Given the description of an element on the screen output the (x, y) to click on. 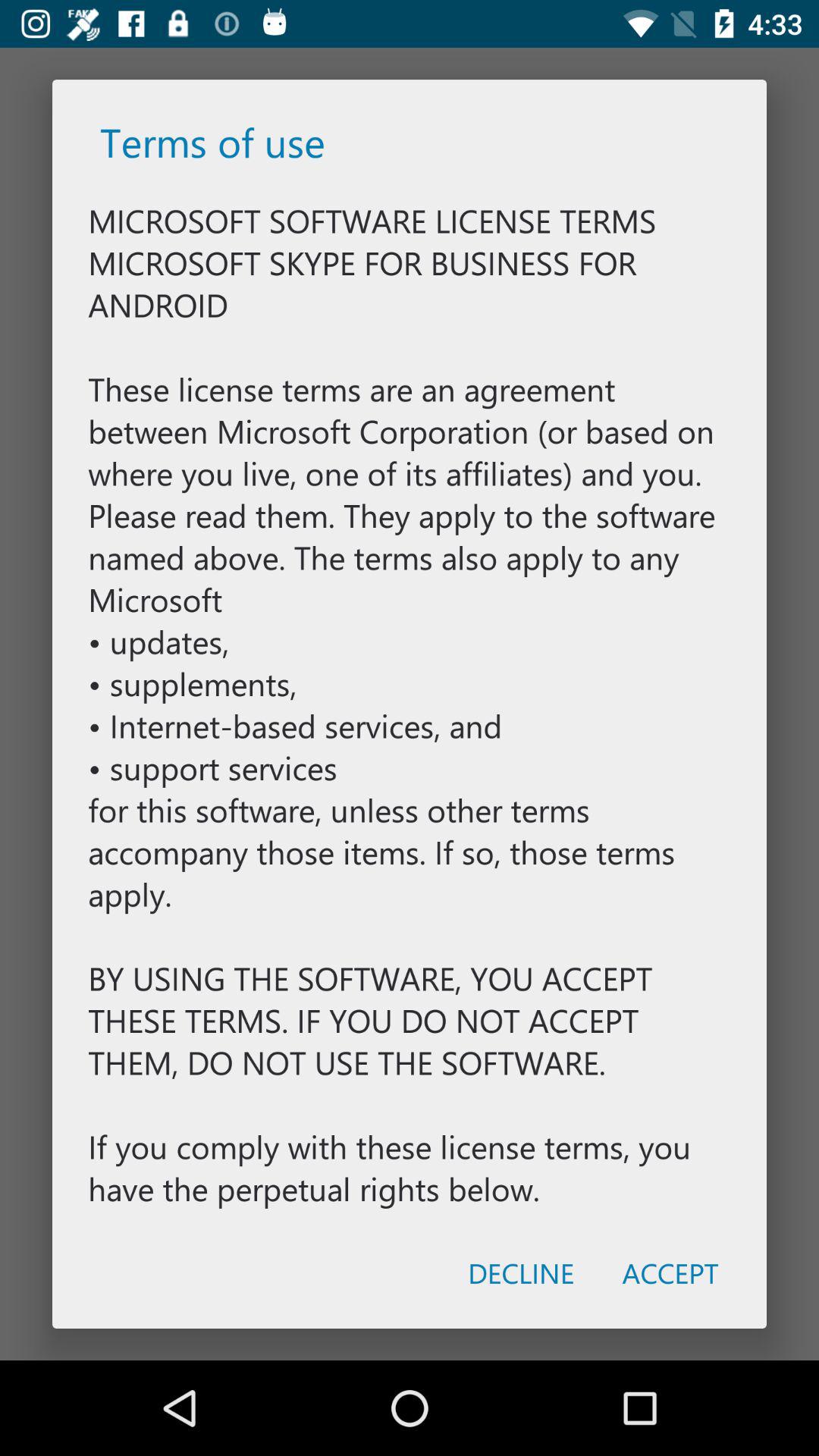
tap the item below microsoft software license item (521, 1272)
